Given the description of an element on the screen output the (x, y) to click on. 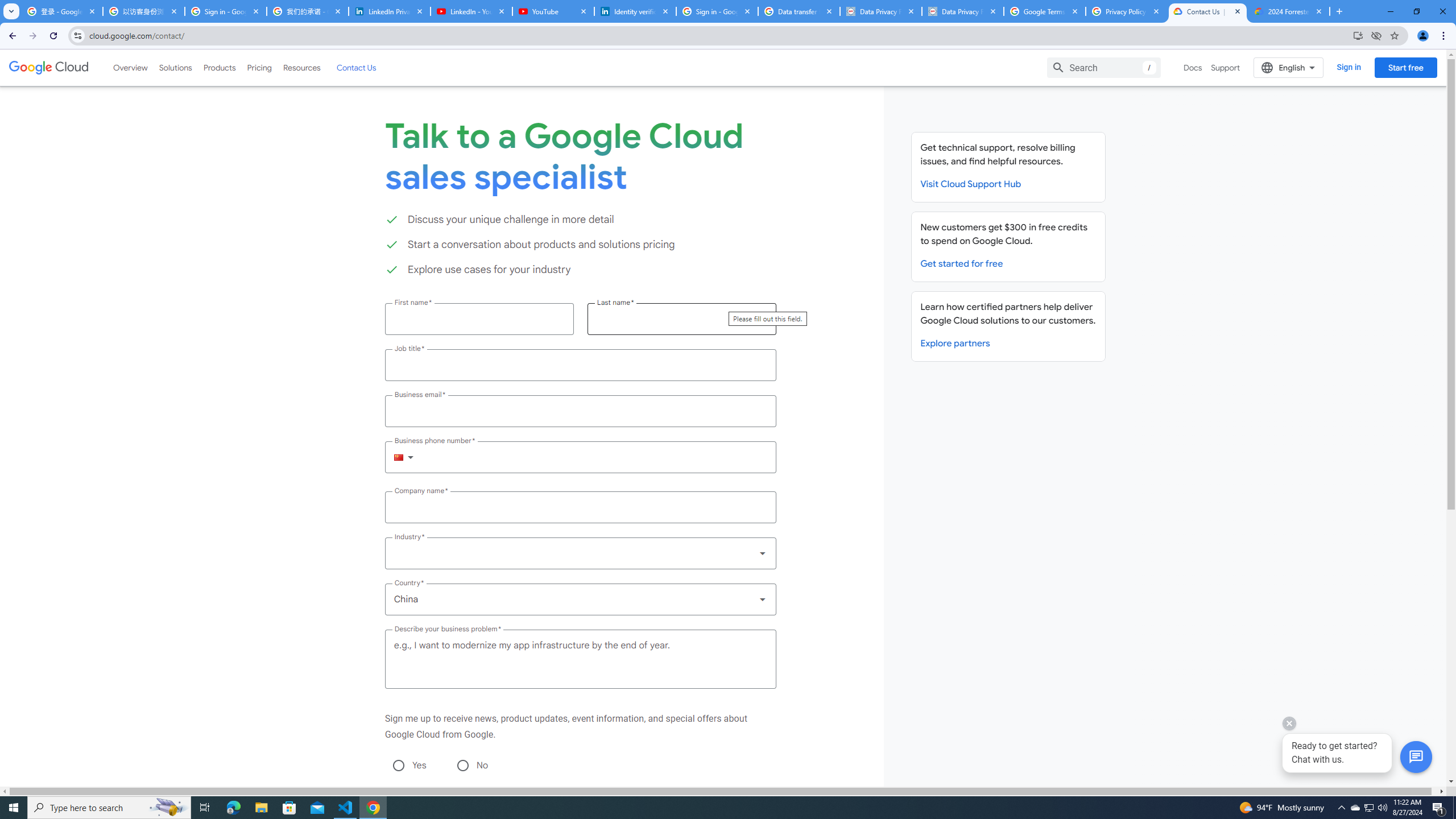
Describe your business problem * (580, 658)
YouTube (552, 11)
Sign in - Google Accounts (716, 11)
Last name * (681, 318)
Google Cloud (48, 67)
